Given the description of an element on the screen output the (x, y) to click on. 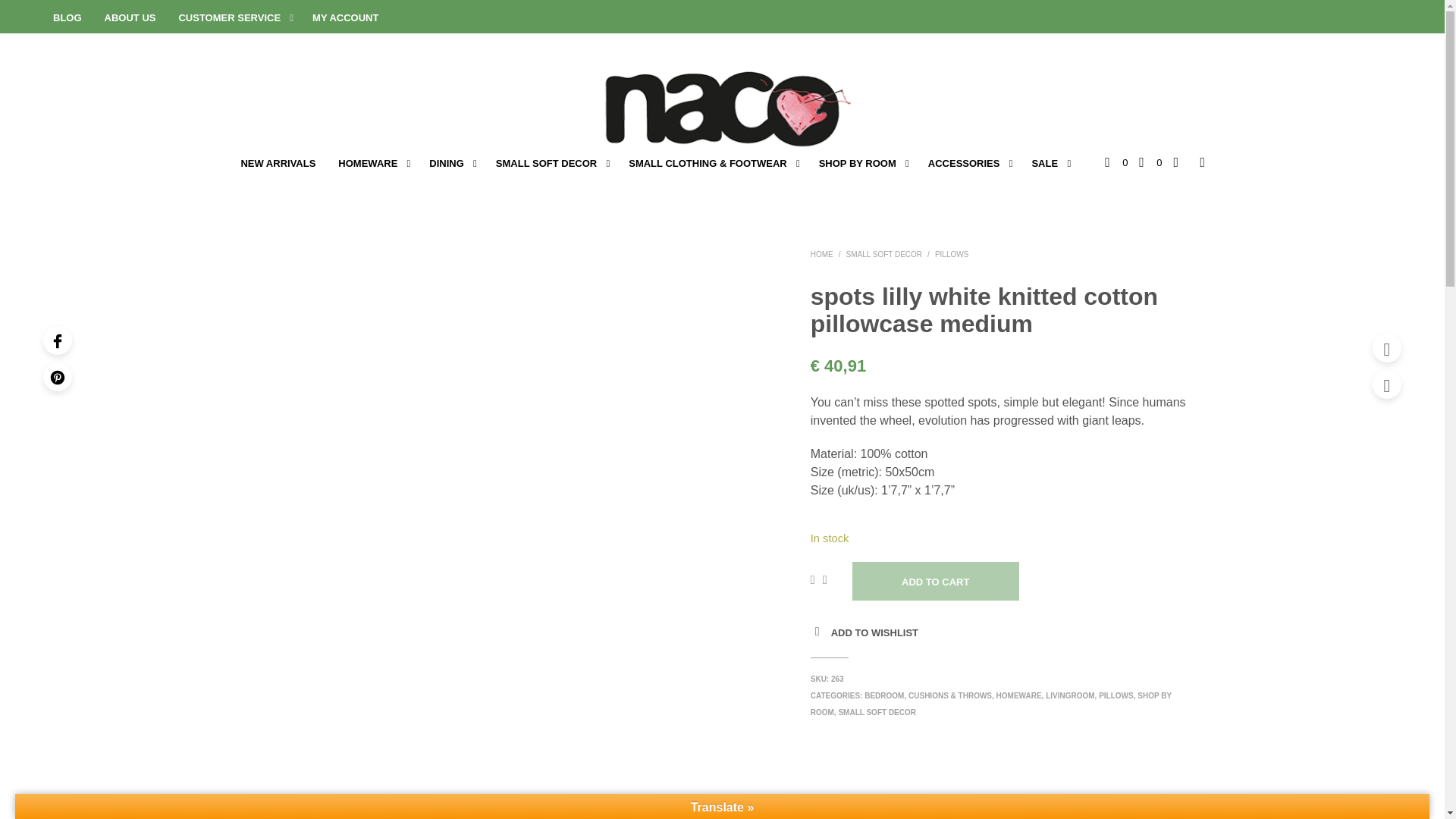
ABOUT US (130, 17)
CUSTOMER SERVICE (229, 17)
HOMEWARE (367, 163)
DINING (446, 163)
SMALL SOFT DECOR (546, 163)
while supplies last (1044, 163)
MY ACCOUNT (345, 17)
BLOG (67, 17)
NEW ARRIVALS (277, 163)
